Given the description of an element on the screen output the (x, y) to click on. 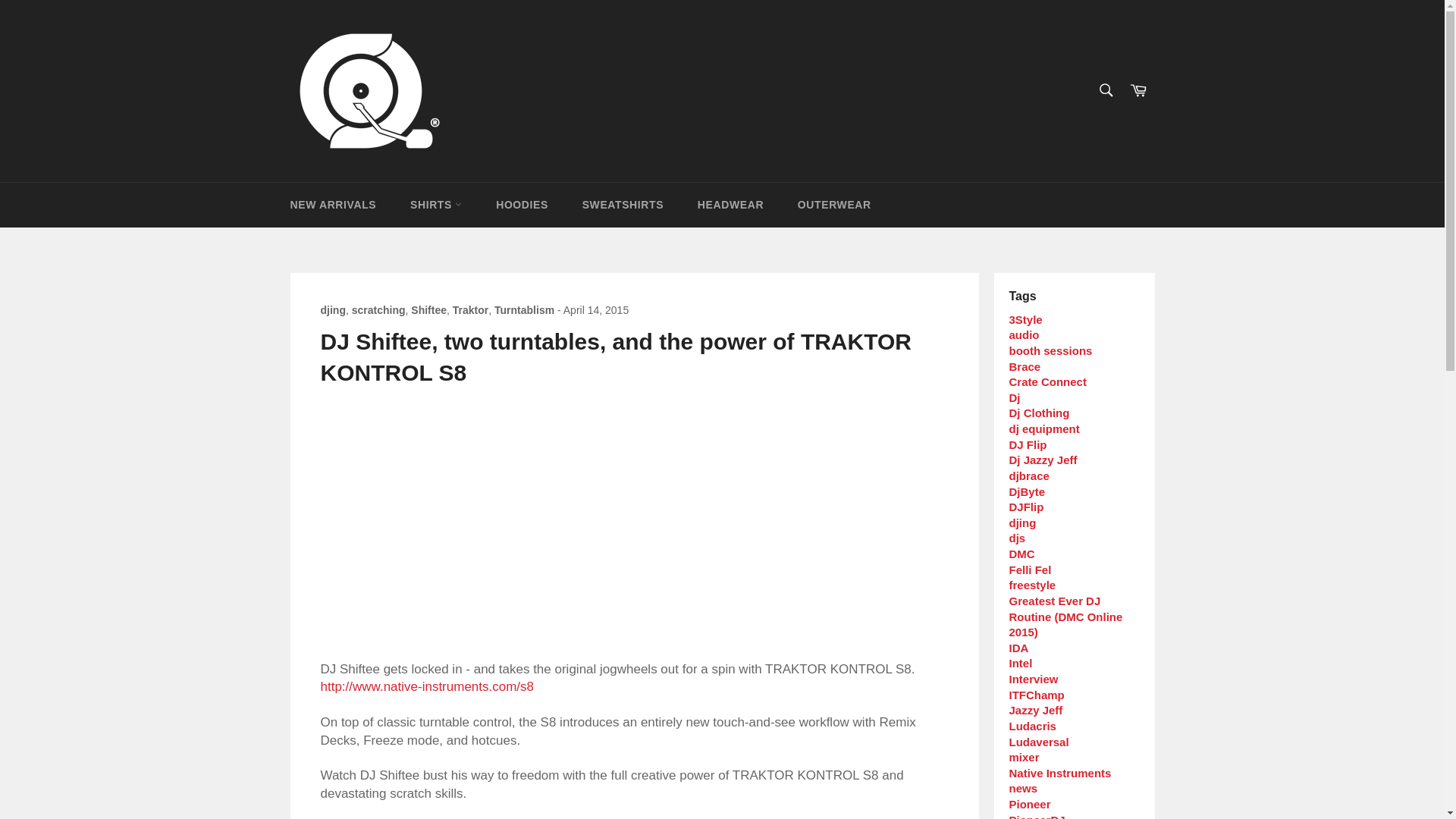
NEW ARRIVALS (333, 204)
Show articles tagged Crate Connect (1047, 381)
Show articles tagged 3Style (1025, 318)
HOODIES (521, 204)
Show articles tagged djs (1017, 537)
HEADWEAR (730, 204)
Show articles tagged booth sessions (1050, 350)
OUTERWEAR (834, 204)
SHIRTS (435, 204)
Show articles tagged DJ Flip (1027, 444)
djing (332, 309)
Shiftee (428, 309)
Show articles tagged DJFlip (1026, 506)
Show articles tagged djing (1022, 522)
scratching (379, 309)
